Given the description of an element on the screen output the (x, y) to click on. 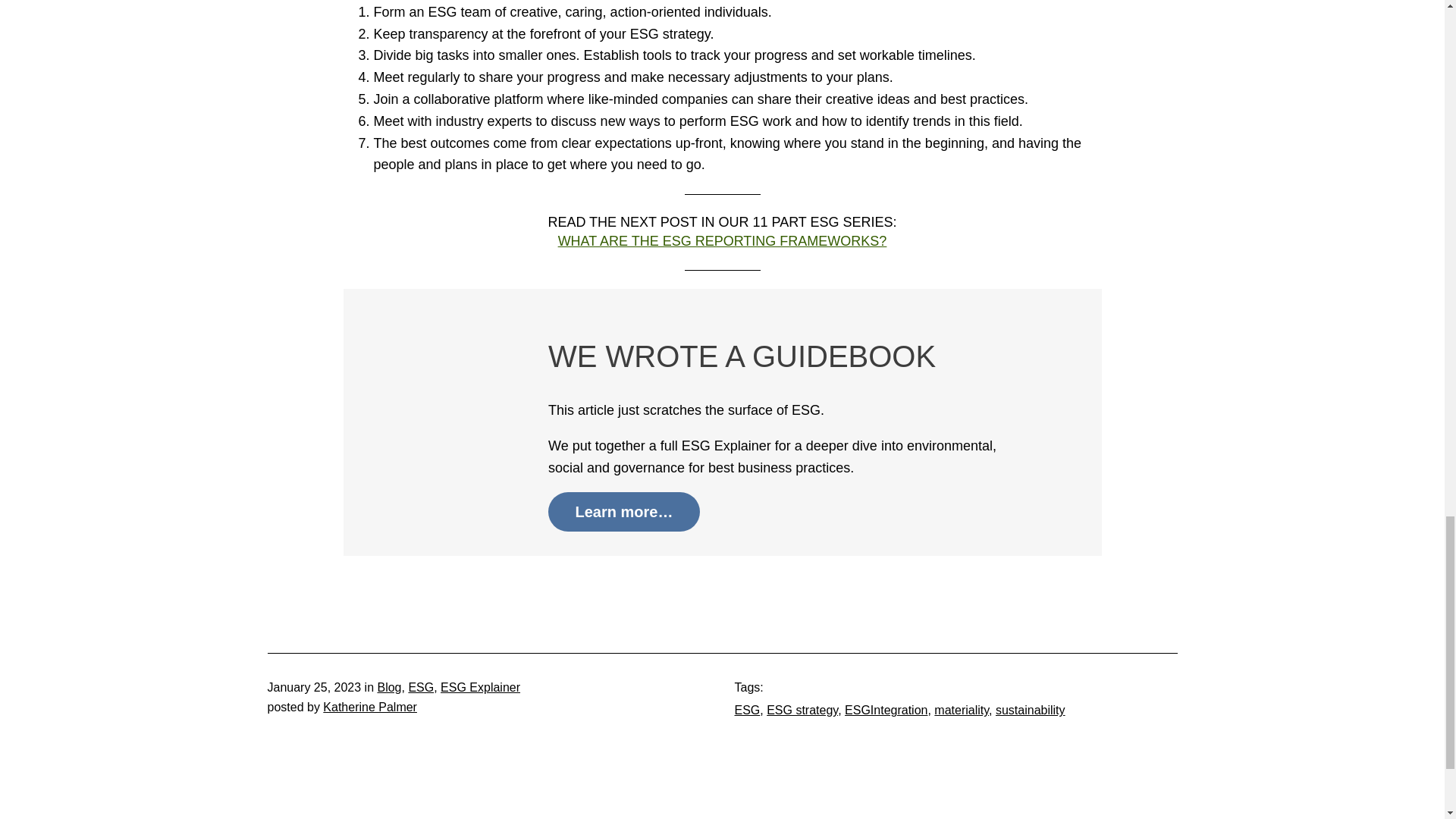
materiality (961, 709)
Blog (389, 686)
WHAT ARE THE ESG REPORTING FRAMEWORKS? (721, 240)
ESGIntegration (885, 709)
ESG strategy (802, 709)
ESG Explainer (480, 686)
Katherine Palmer (369, 707)
ESG (746, 709)
ESG (420, 686)
sustainability (1030, 709)
